Given the description of an element on the screen output the (x, y) to click on. 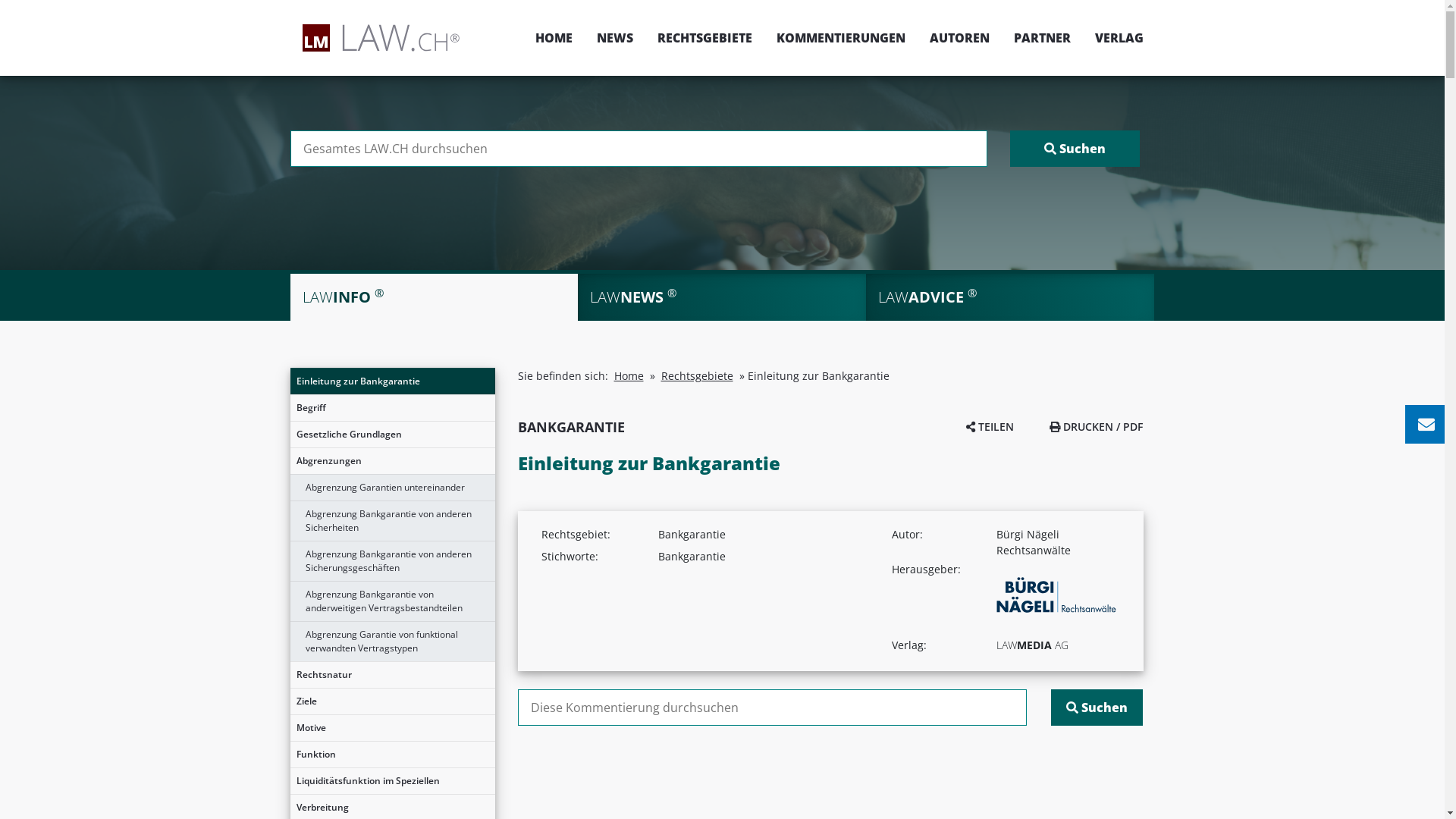
Suchen nach: Element type: hover (637, 148)
Abgrenzung Garantien untereinander Element type: text (391, 487)
Einleitung zur Bankgarantie Element type: text (391, 381)
Gesetzliche Grundlagen Element type: text (391, 434)
PARTNER Element type: text (1041, 37)
KOMMENTIERUNGEN Element type: text (840, 37)
Motive Element type: text (391, 727)
Abgrenzungen Element type: text (391, 460)
Home Element type: text (628, 375)
Rechtsgebiete Element type: text (697, 375)
Begriff Element type: text (391, 407)
Abgrenzung Bankgarantie von anderen Sicherheiten Element type: text (391, 520)
RECHTSGEBIETE Element type: text (703, 37)
AUTOREN Element type: text (959, 37)
NEWS Element type: text (613, 37)
VERLAG Element type: text (1112, 37)
Abgrenzung Garantie von funktional verwandten Vertragstypen Element type: text (391, 641)
Ziele Element type: text (391, 701)
 TEILEN Element type: text (989, 426)
HOME Element type: text (553, 37)
Funktion Element type: text (391, 754)
Rechtsnatur Element type: text (391, 674)
 DRUCKEN / PDF Element type: text (1095, 426)
Suchen nach: Element type: hover (771, 707)
